Given the description of an element on the screen output the (x, y) to click on. 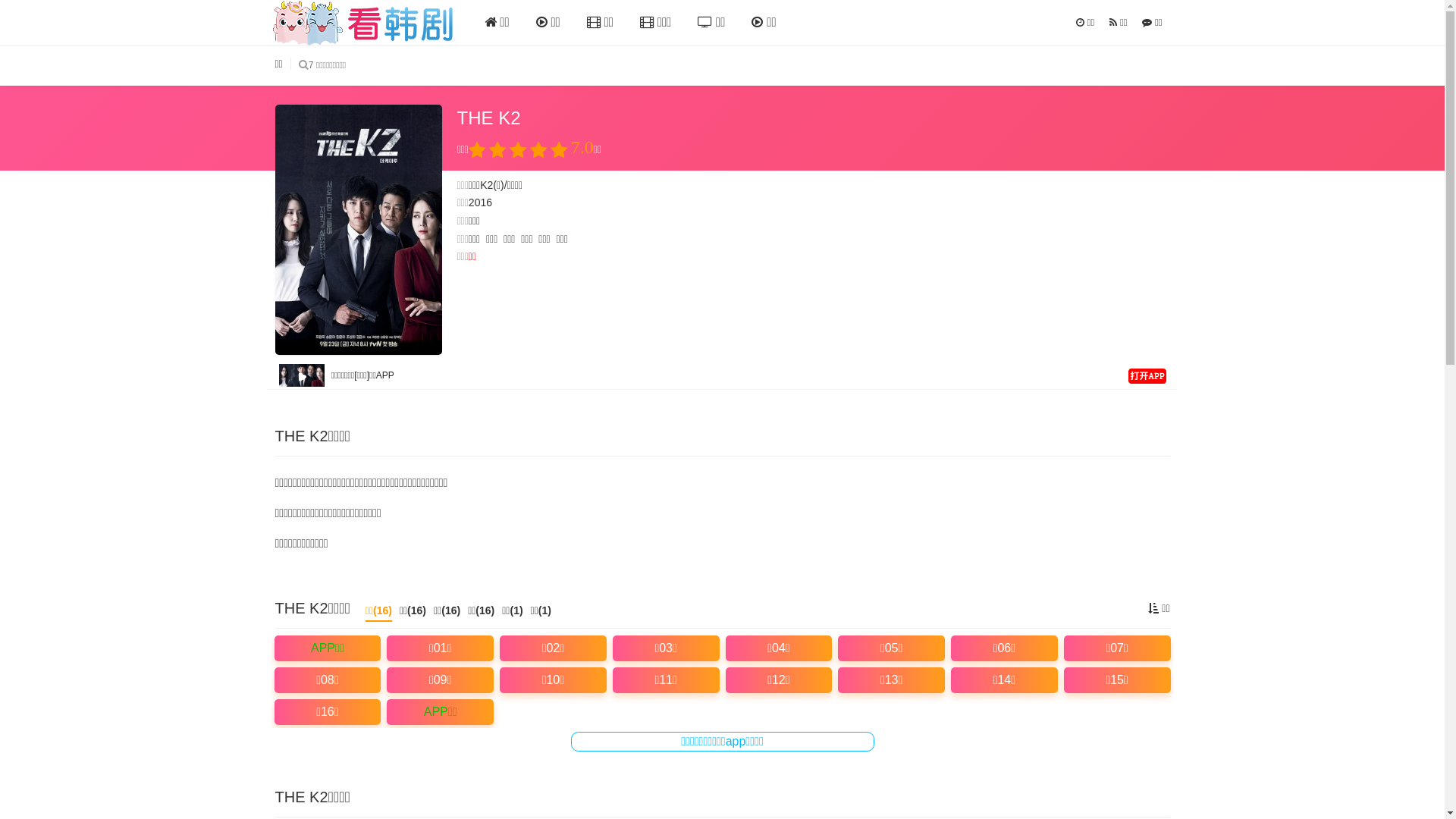
submit Element type: text (302, 65)
2016 Element type: text (480, 202)
THE K2 Element type: hover (357, 229)
